Given the description of an element on the screen output the (x, y) to click on. 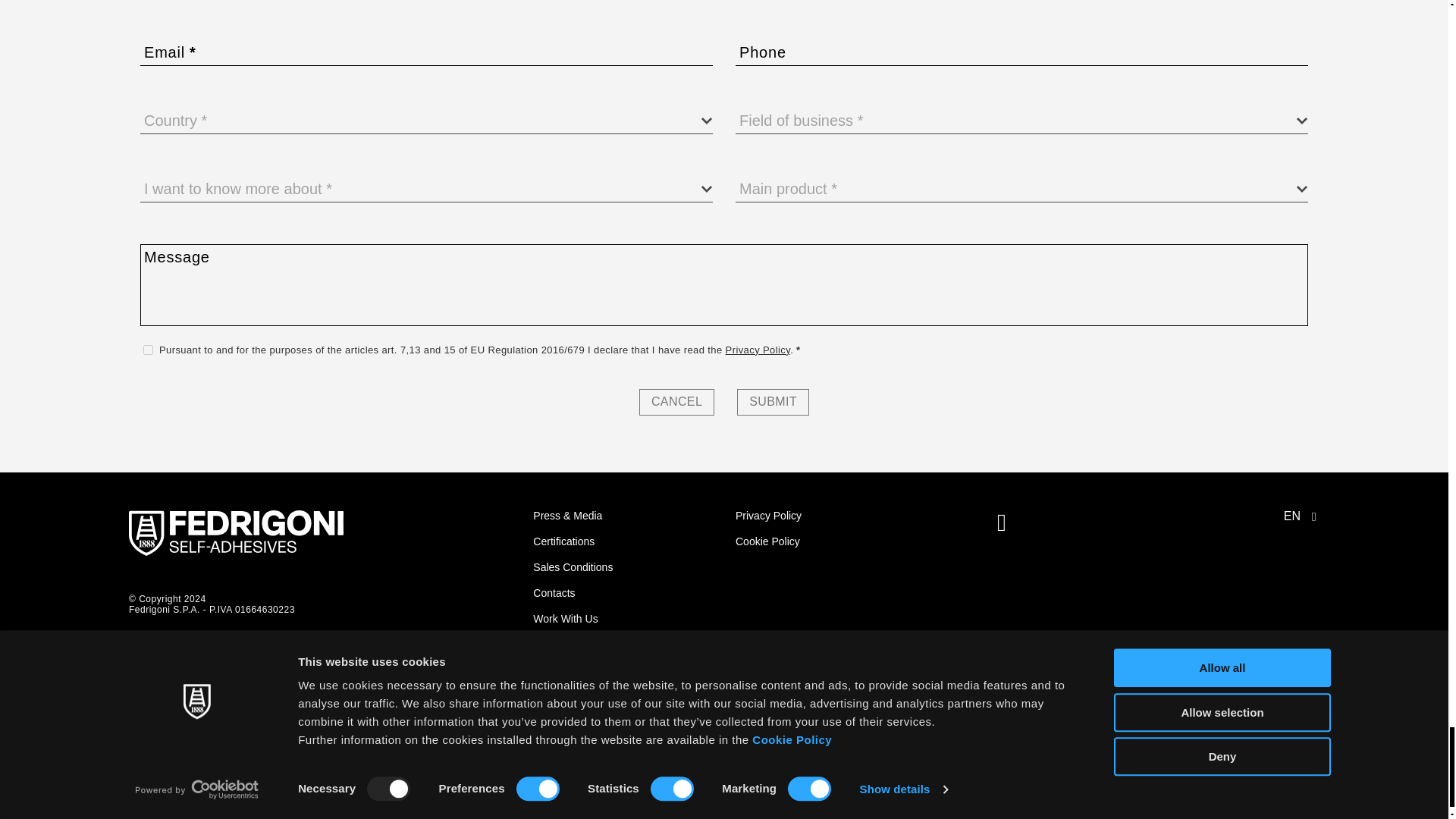
on (147, 349)
Submit (772, 402)
Cancel (676, 402)
